Given the description of an element on the screen output the (x, y) to click on. 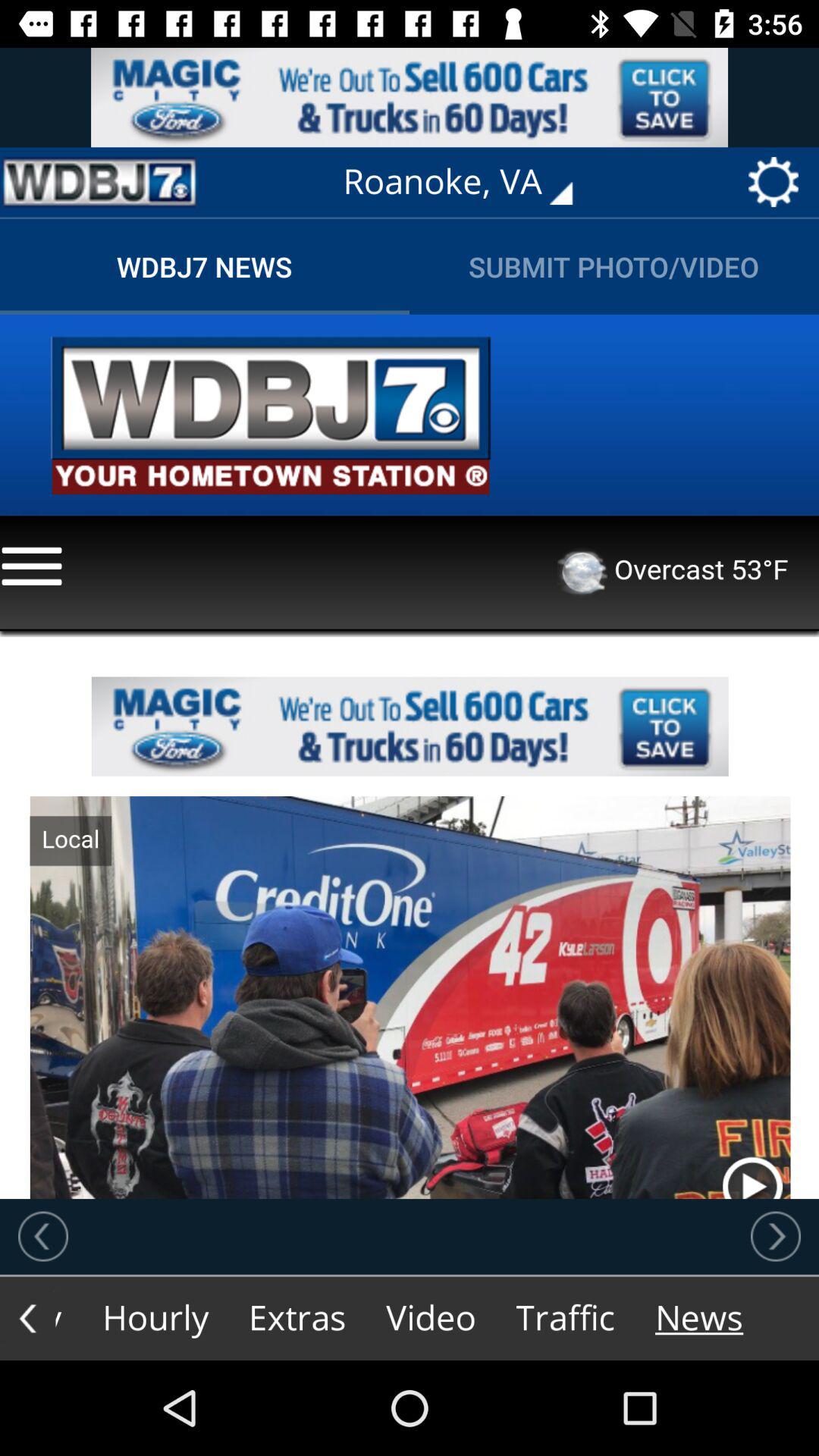
go to next (775, 1236)
